Given the description of an element on the screen output the (x, y) to click on. 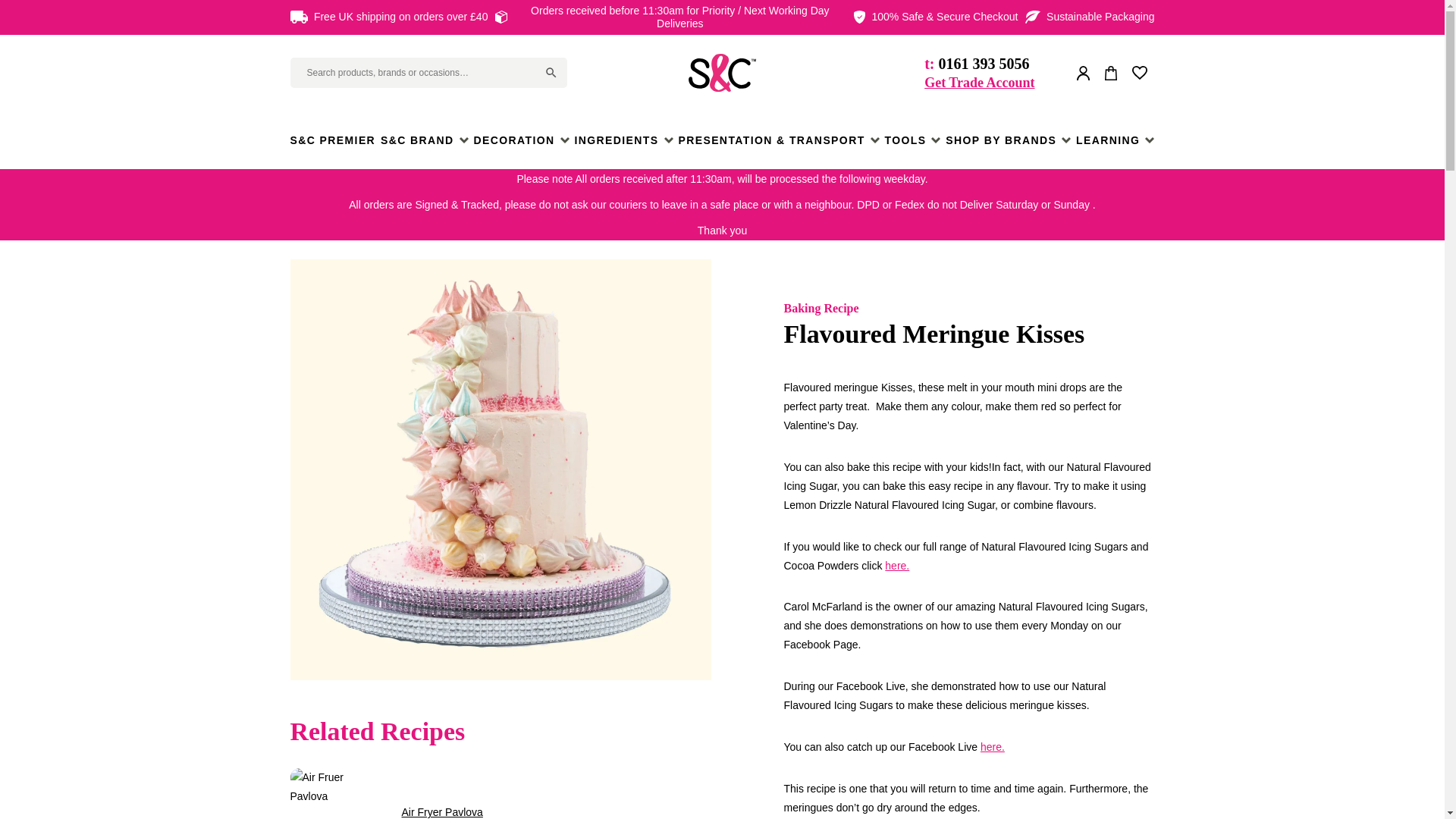
Get Trade Account (978, 83)
DECORATION (521, 140)
t: 0161 393 5056 (978, 64)
